Given the description of an element on the screen output the (x, y) to click on. 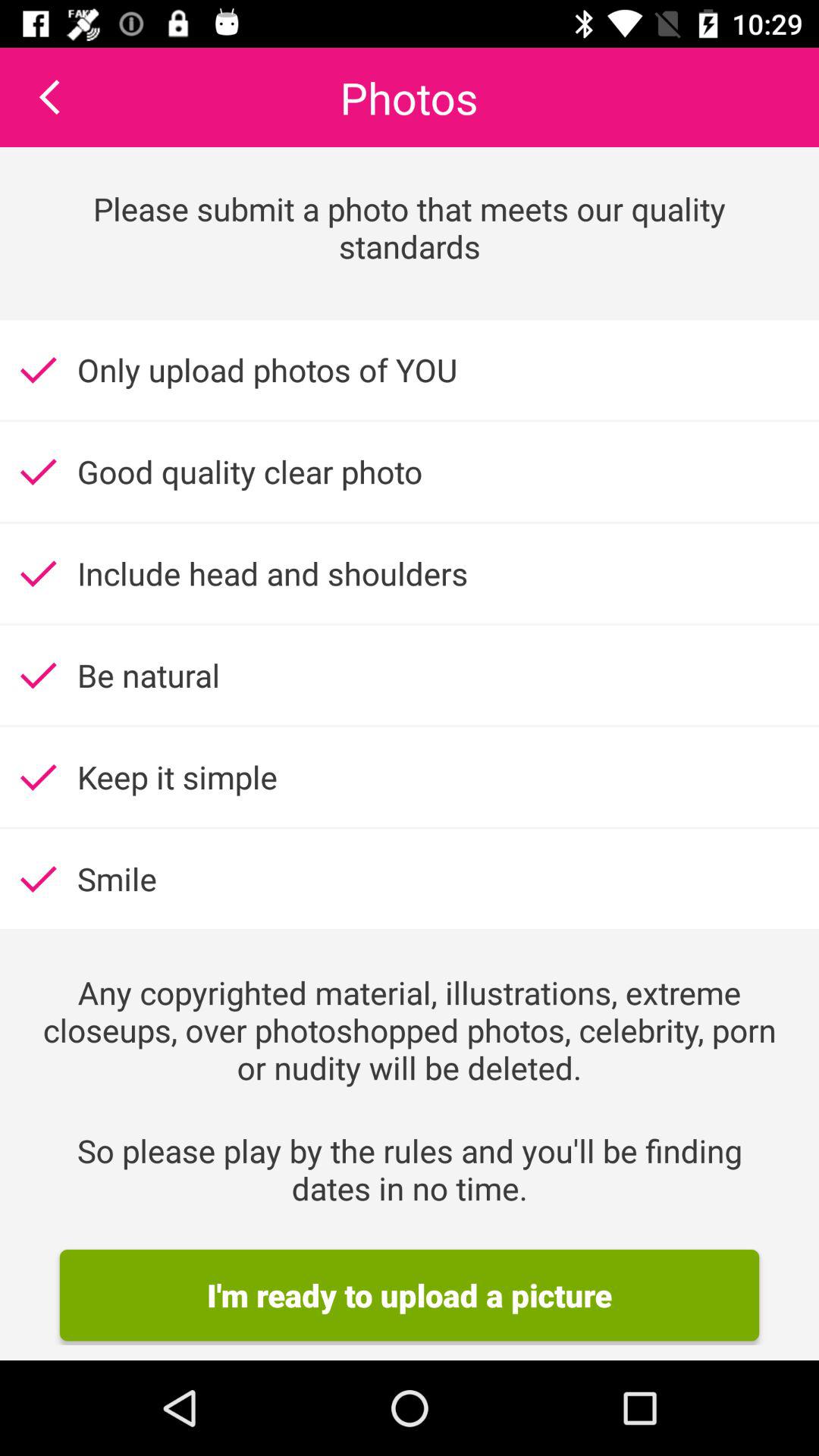
turn off the item below so please play app (409, 1295)
